Given the description of an element on the screen output the (x, y) to click on. 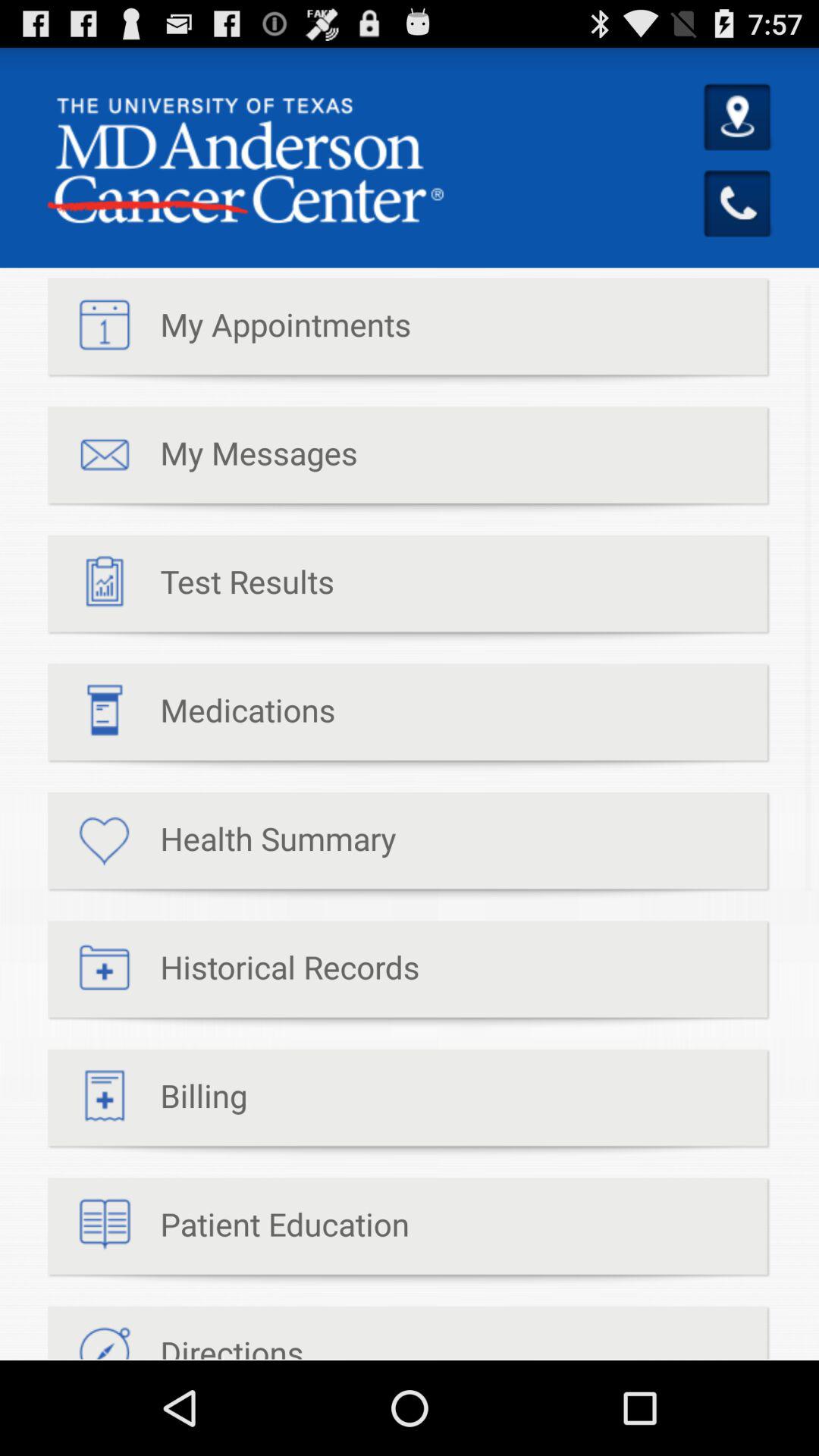
launch medications icon (191, 717)
